Given the description of an element on the screen output the (x, y) to click on. 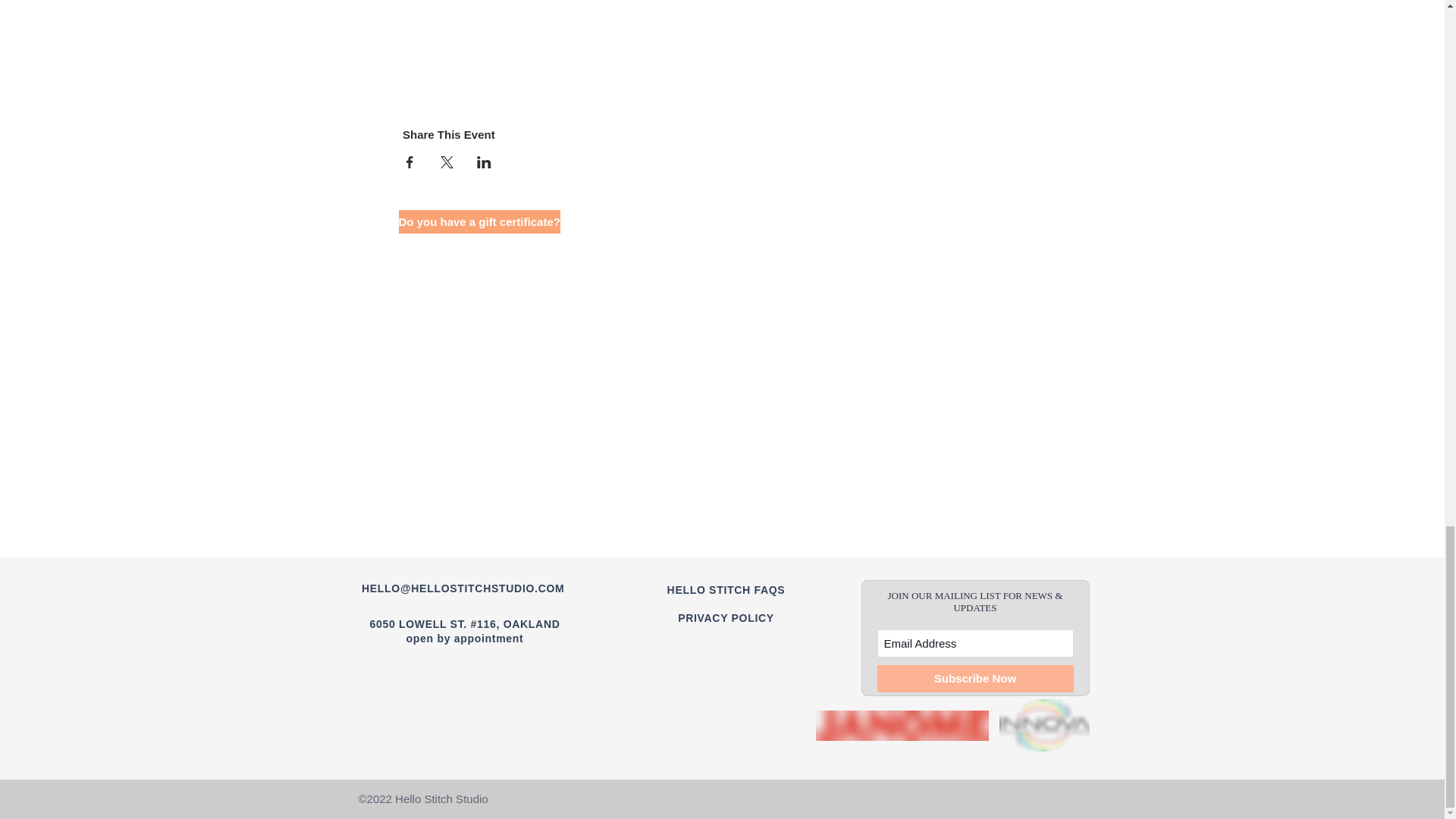
PRIVACY POLICY (726, 617)
HELLO STITCH FAQS (726, 589)
Do you have a gift certificate? (479, 221)
Subscribe Now (974, 678)
